Given the description of an element on the screen output the (x, y) to click on. 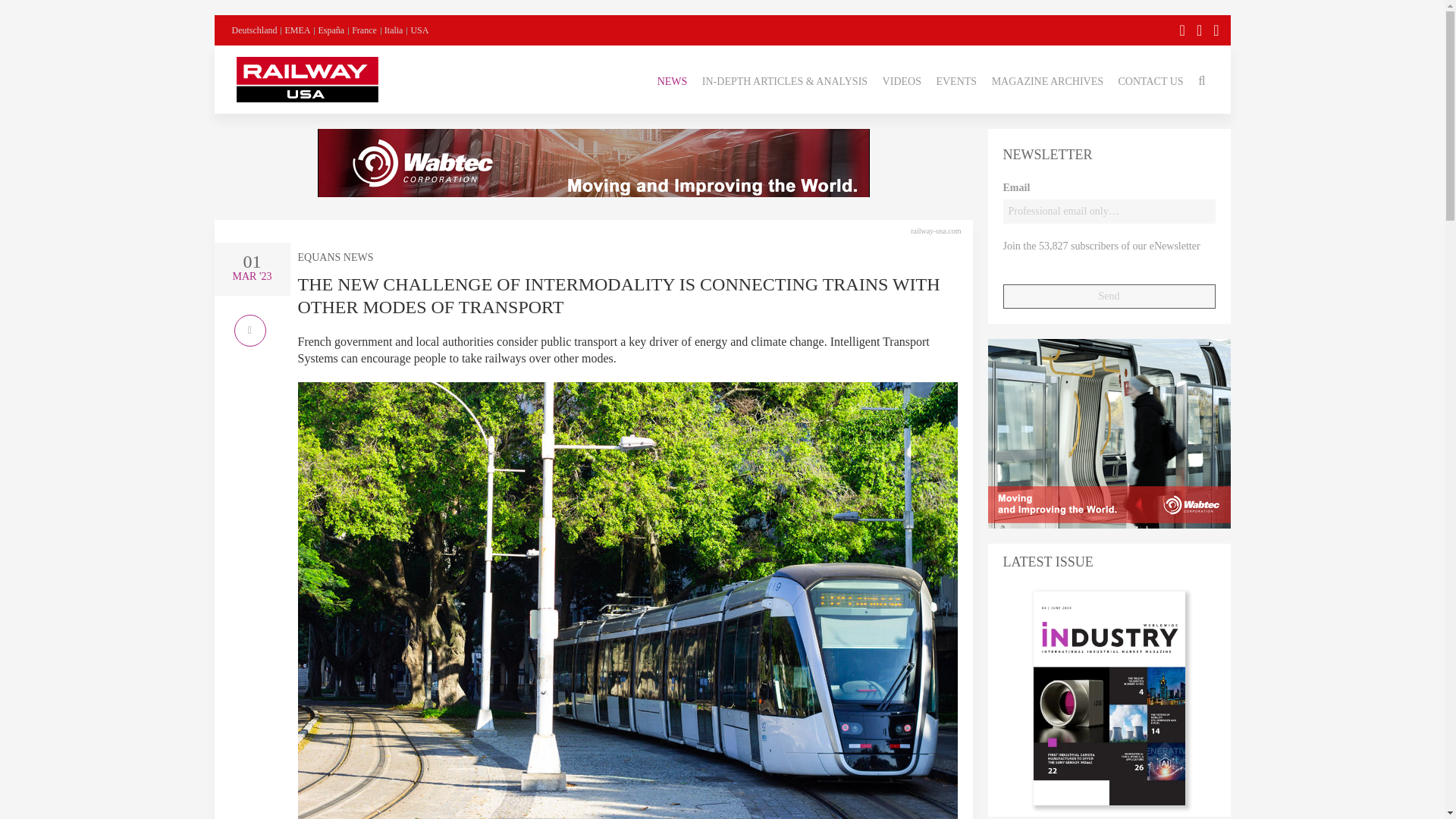
France (364, 29)
VIDEOS (901, 79)
Deutschland (254, 29)
MAGAZINE ARCHIVES (1047, 79)
Send (1108, 296)
NEWS (672, 79)
EMEA (296, 29)
USA (419, 29)
Italia (393, 29)
CONTACT US (1150, 79)
EVENTS (956, 79)
